Given the description of an element on the screen output the (x, y) to click on. 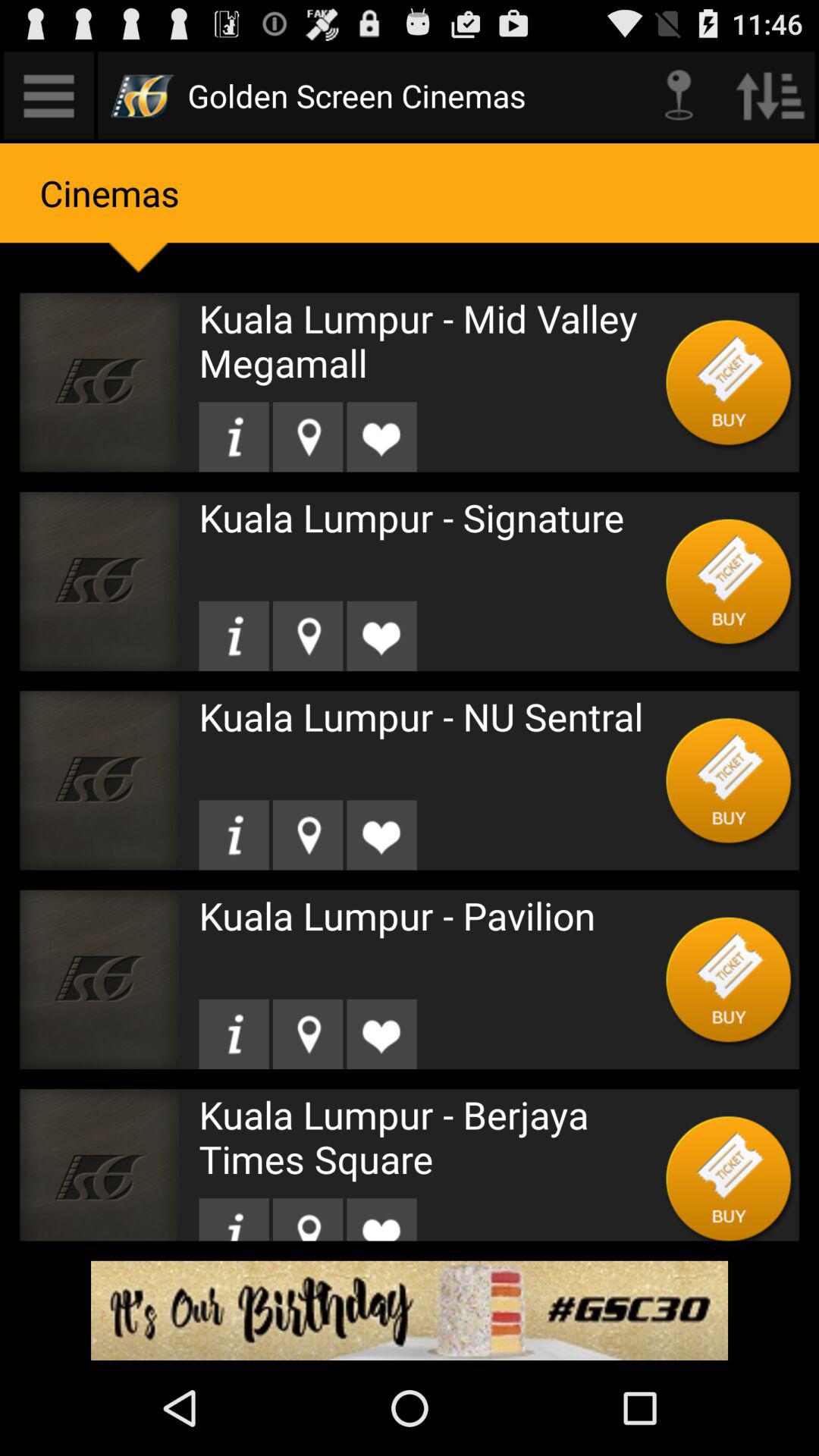
location (307, 636)
